Given the description of an element on the screen output the (x, y) to click on. 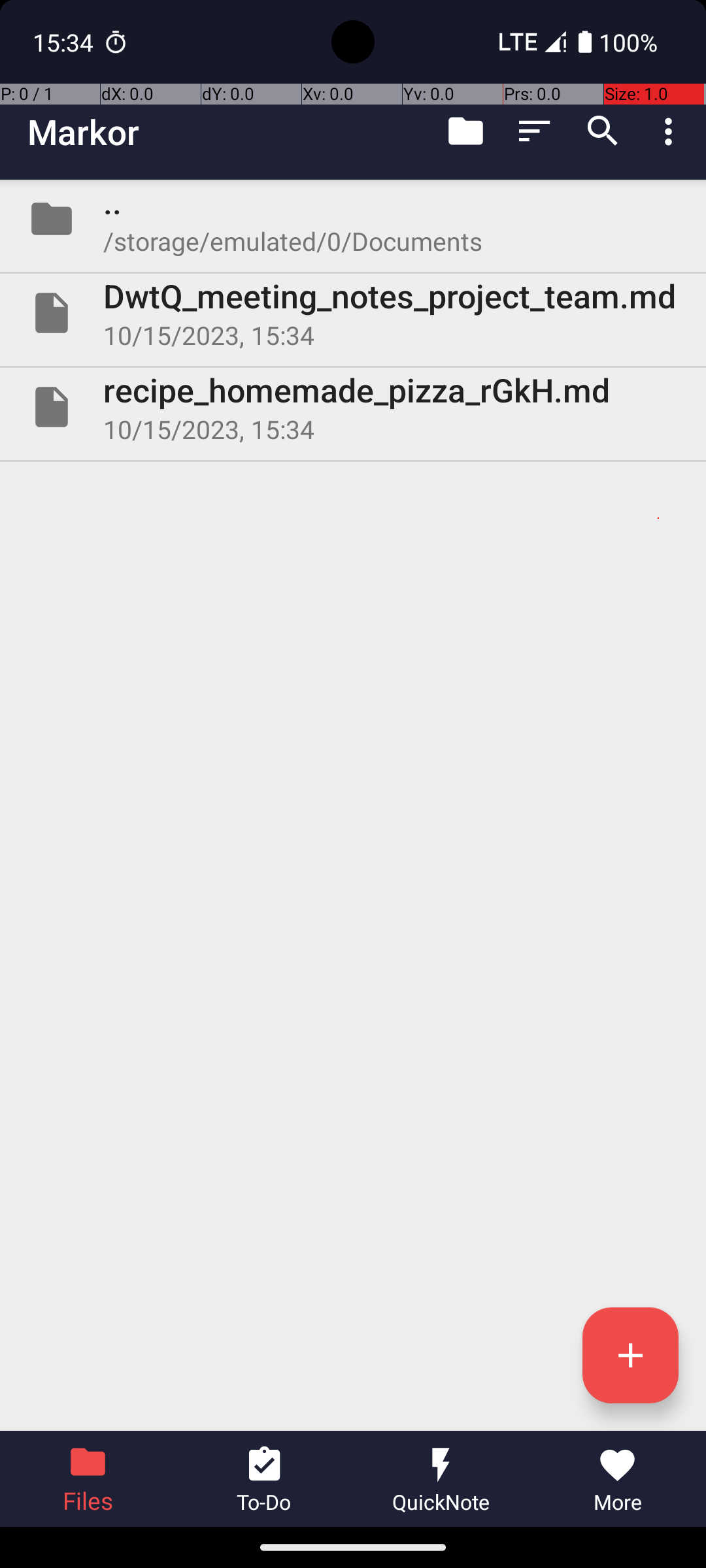
File DwtQ_meeting_notes_project_team.md  Element type: android.widget.LinearLayout (353, 312)
File recipe_homemade_pizza_rGkH.md  Element type: android.widget.LinearLayout (353, 406)
